Given the description of an element on the screen output the (x, y) to click on. 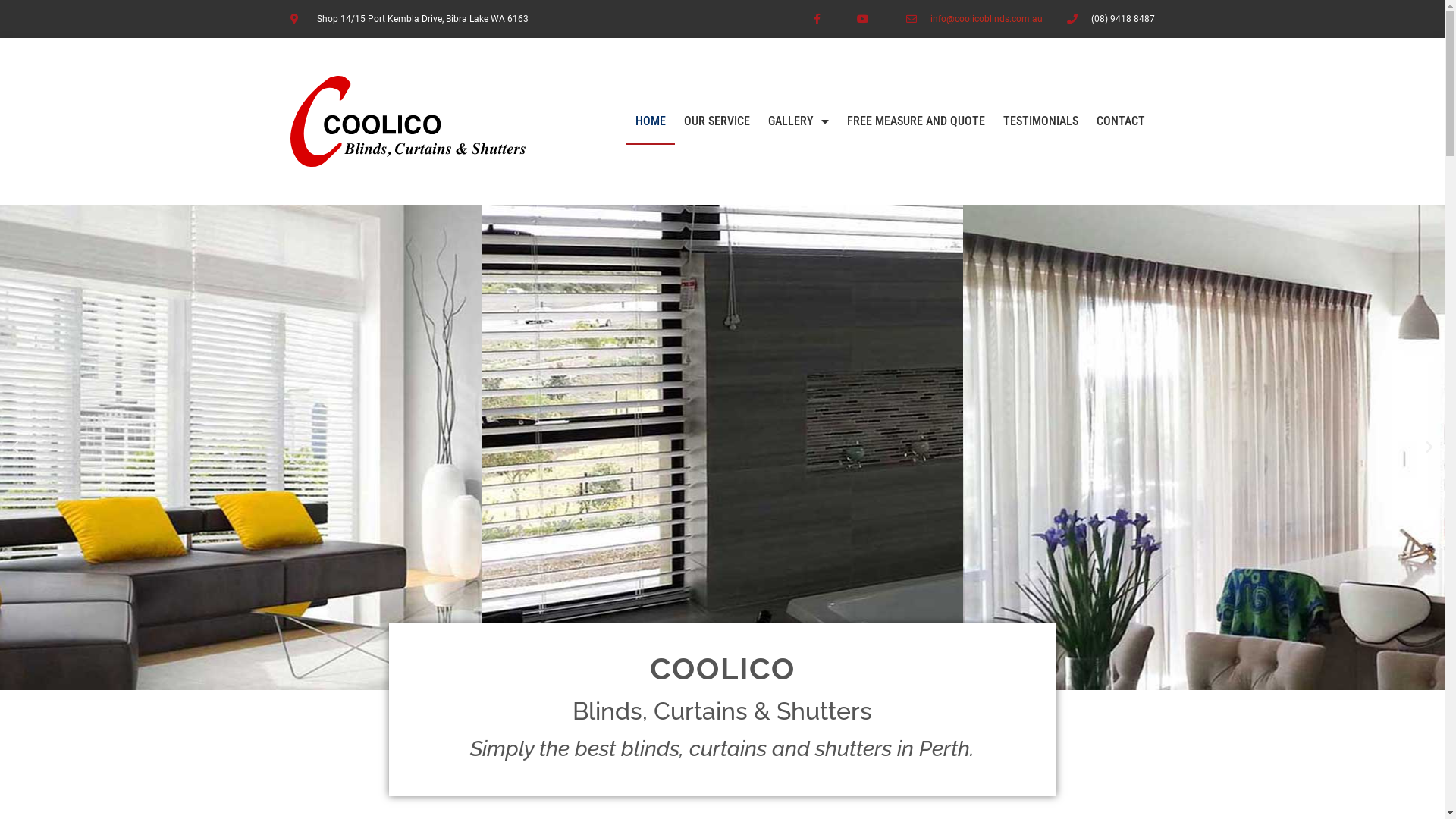
TESTIMONIALS Element type: text (1040, 120)
HOME Element type: text (650, 120)
info@coolicoblinds.com.au Element type: text (986, 18)
GALLERY Element type: text (798, 120)
FREE MEASURE AND QUOTE Element type: text (915, 120)
CONTACT Element type: text (1120, 120)
(08) 9418 8487 Element type: text (1122, 18)
OUR SERVICE Element type: text (716, 120)
